Given the description of an element on the screen output the (x, y) to click on. 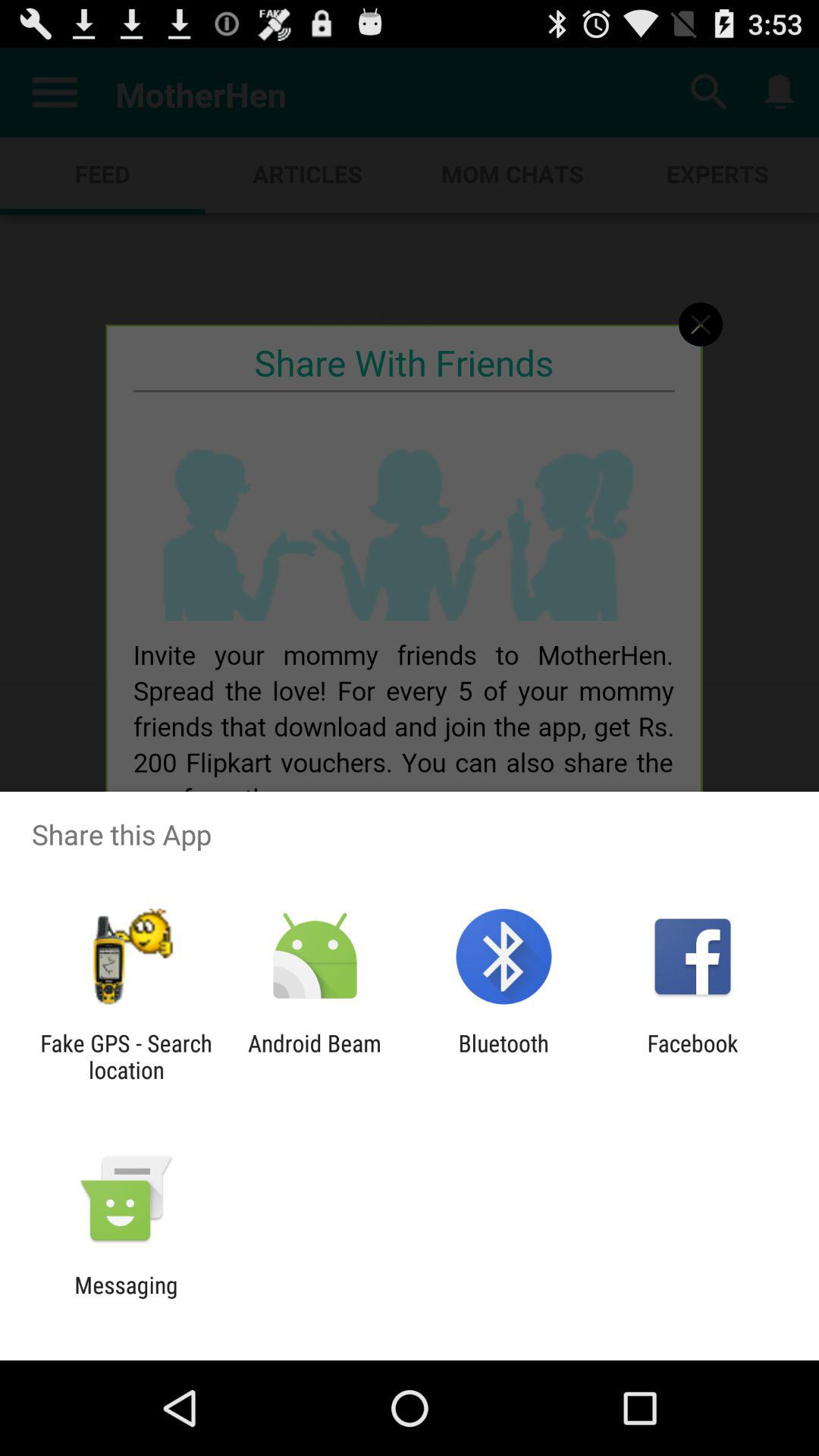
turn on app to the left of the facebook icon (503, 1056)
